Given the description of an element on the screen output the (x, y) to click on. 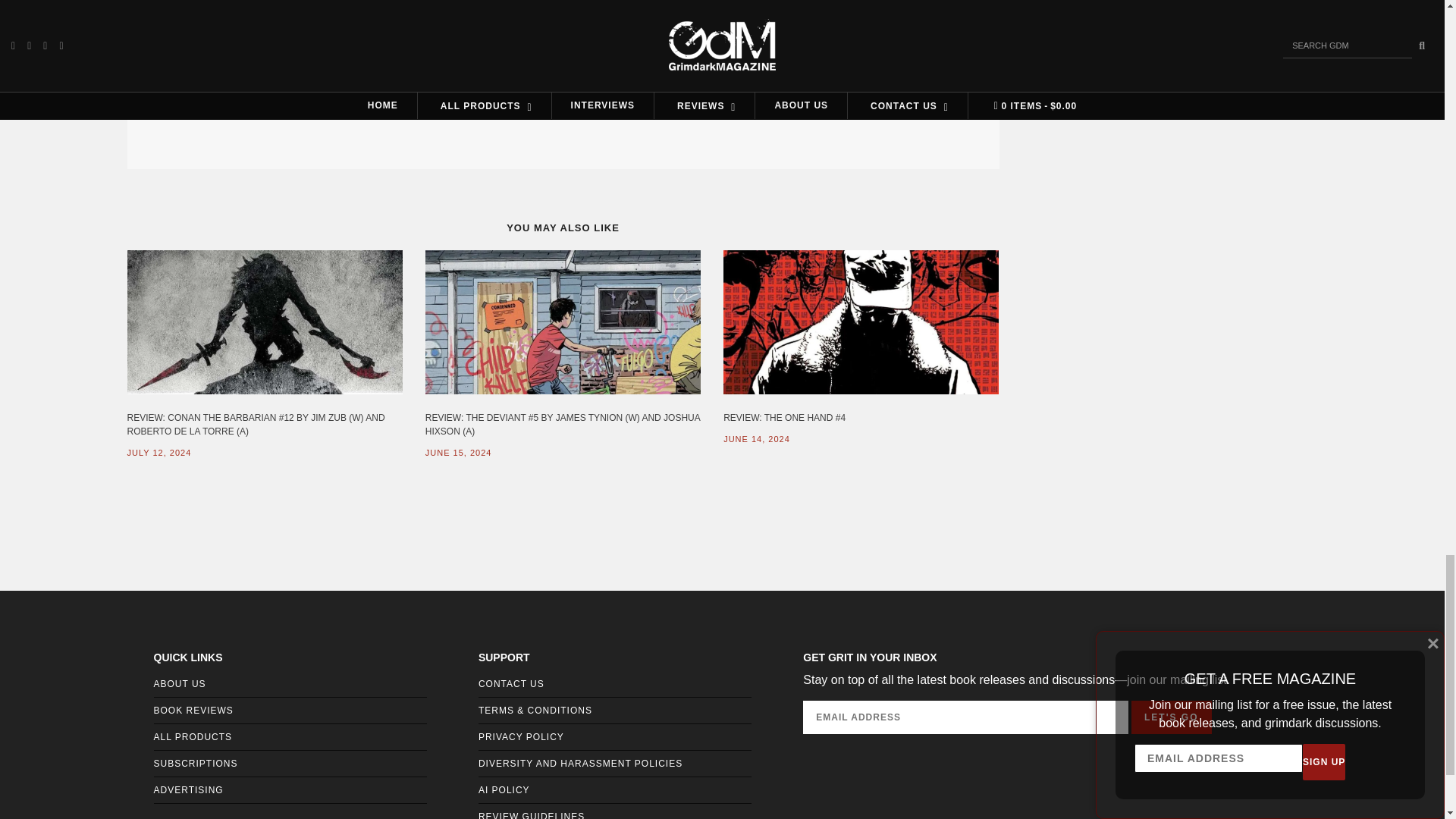
Let's Go (1171, 717)
